Given the description of an element on the screen output the (x, y) to click on. 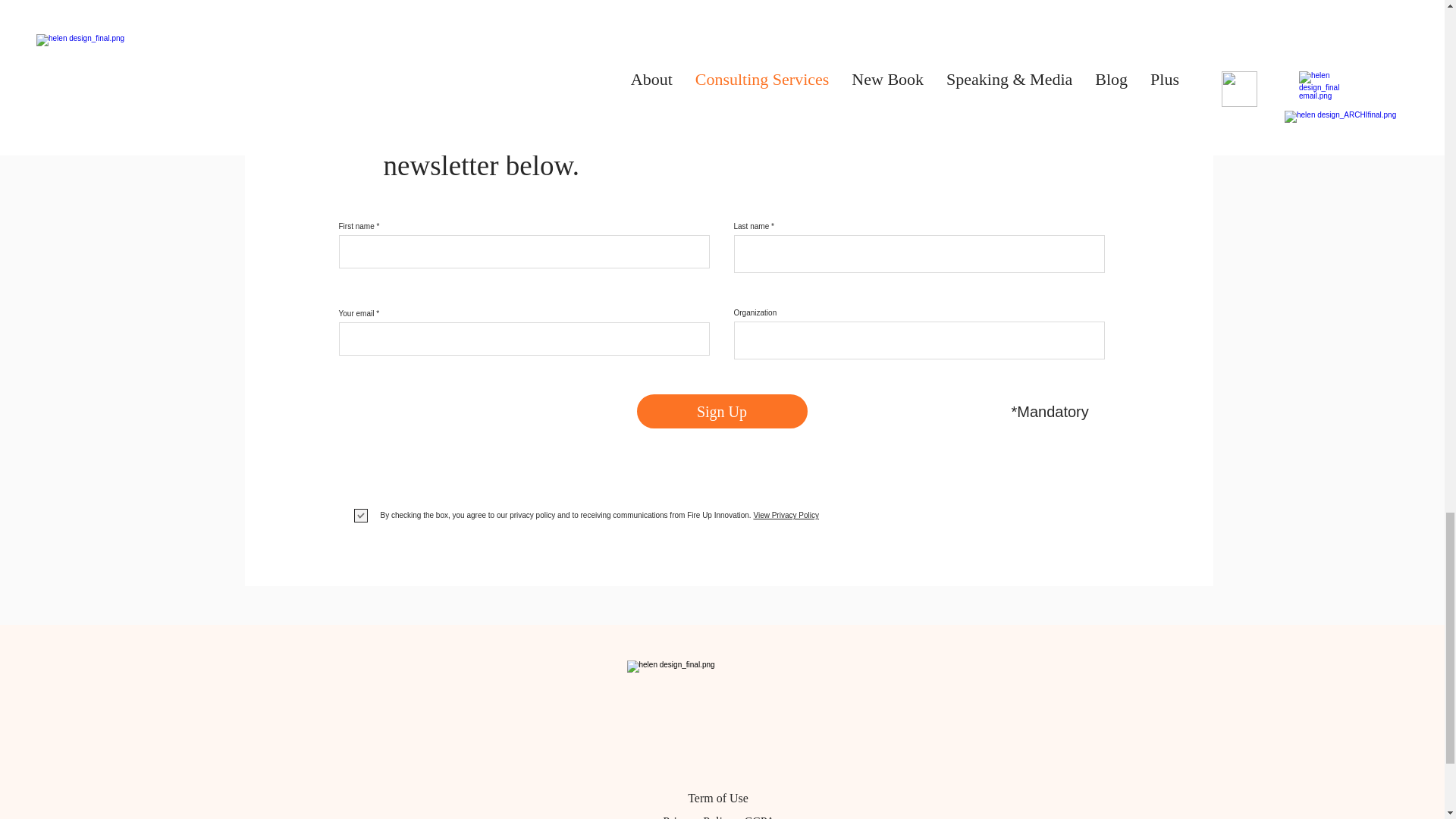
View Privacy Policy (784, 515)
Term of Use (717, 797)
Privacy Policy - CCPA (718, 816)
Sign Up (722, 410)
